Given the description of an element on the screen output the (x, y) to click on. 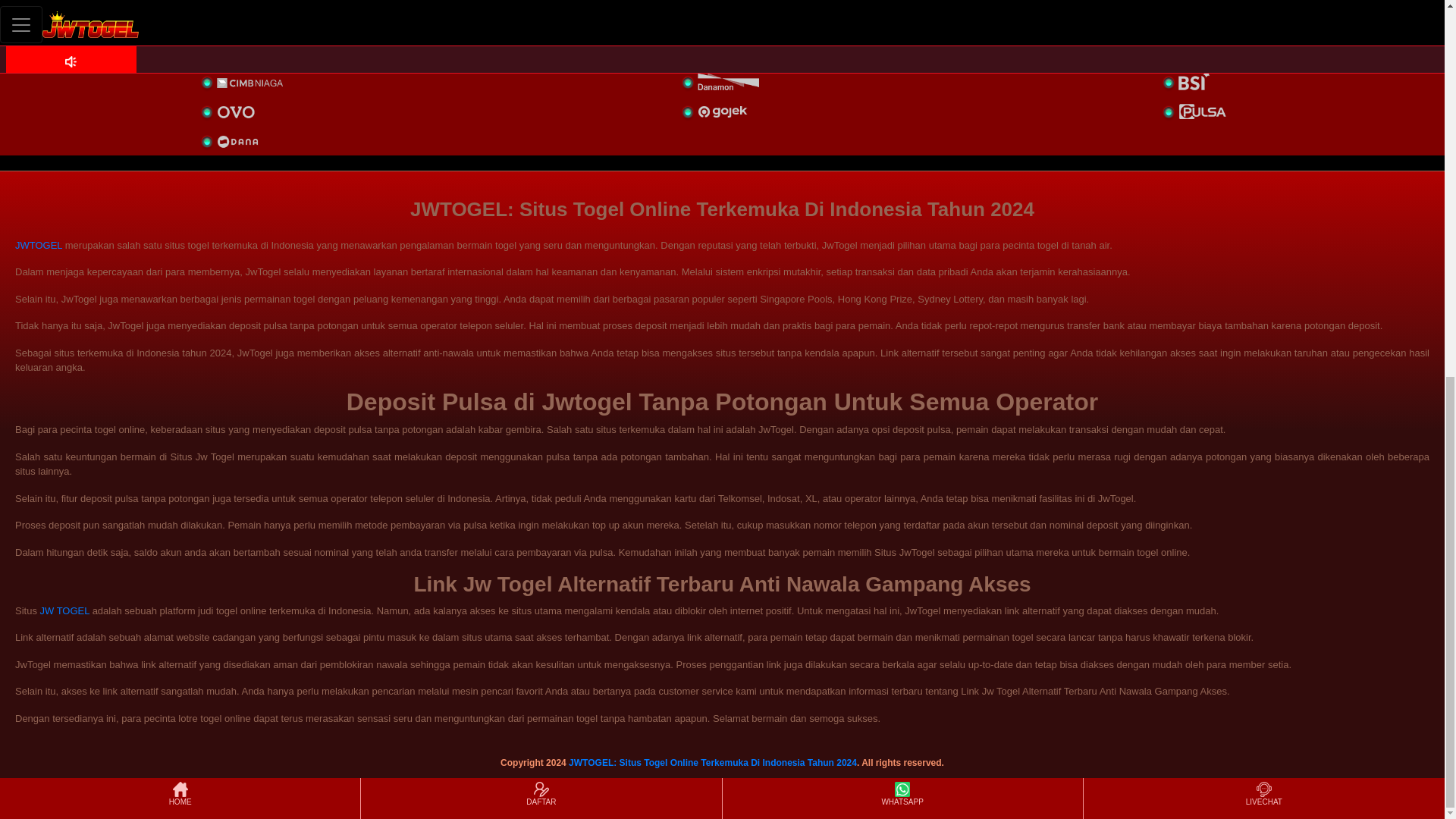
HOME (179, 103)
JWTOGEL (38, 244)
DAFTAR (540, 103)
LIVECHAT (1263, 103)
JW TOGEL (65, 610)
WHATSAPP (901, 103)
